Given the description of an element on the screen output the (x, y) to click on. 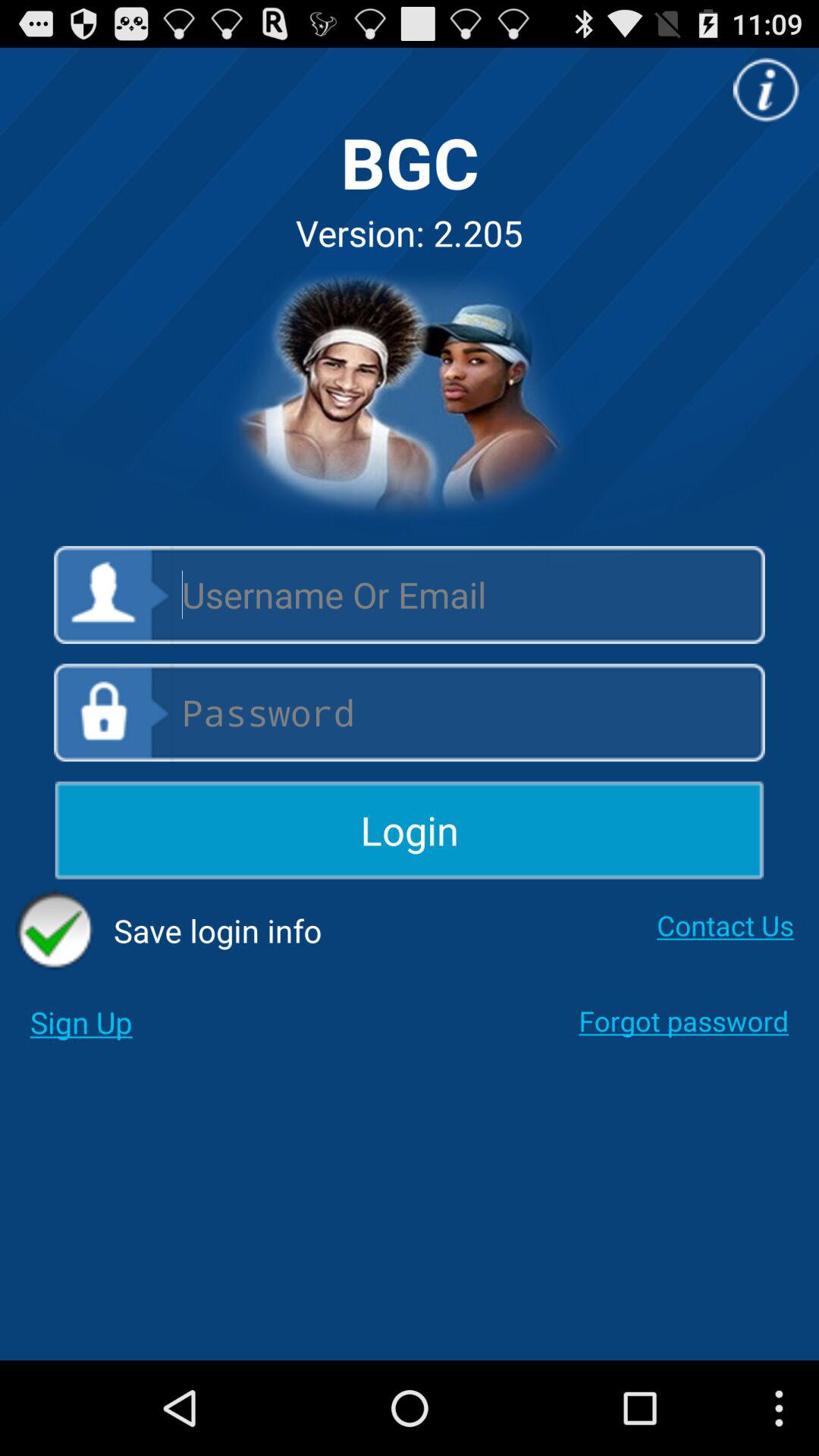
scroll to contact us (724, 925)
